Given the description of an element on the screen output the (x, y) to click on. 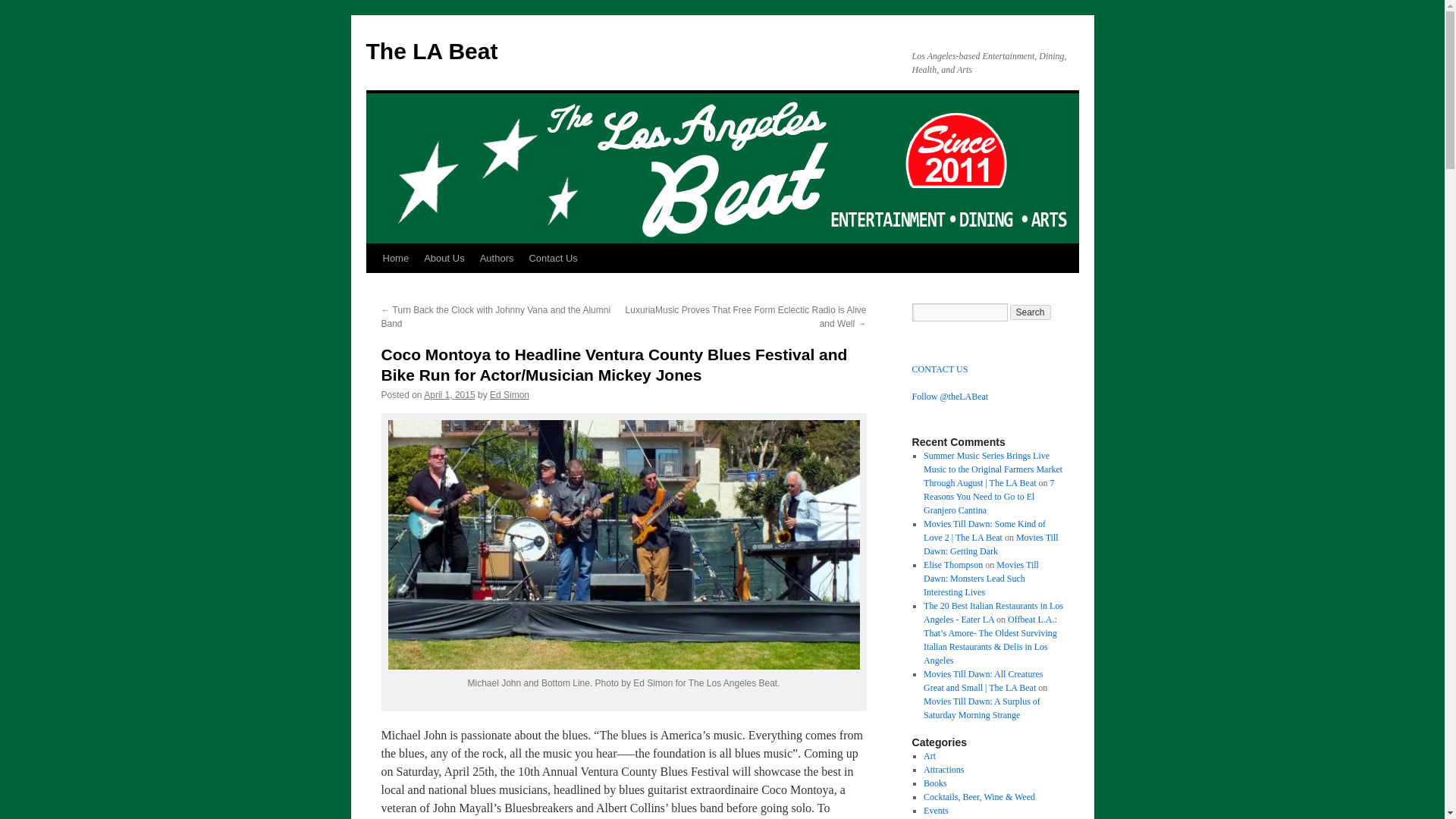
Ed Simon (509, 394)
Search (1030, 312)
Skip to content (372, 286)
1:20 pm (448, 394)
Home (395, 258)
CONTACT US (939, 368)
CONTACT US (939, 368)
The LA Beat (431, 50)
Skip to content (372, 286)
Contact Us (553, 258)
The LA Beat (431, 50)
April 1, 2015 (448, 394)
View all posts by Ed Simon (509, 394)
Authors (496, 258)
Search (1030, 312)
